Given the description of an element on the screen output the (x, y) to click on. 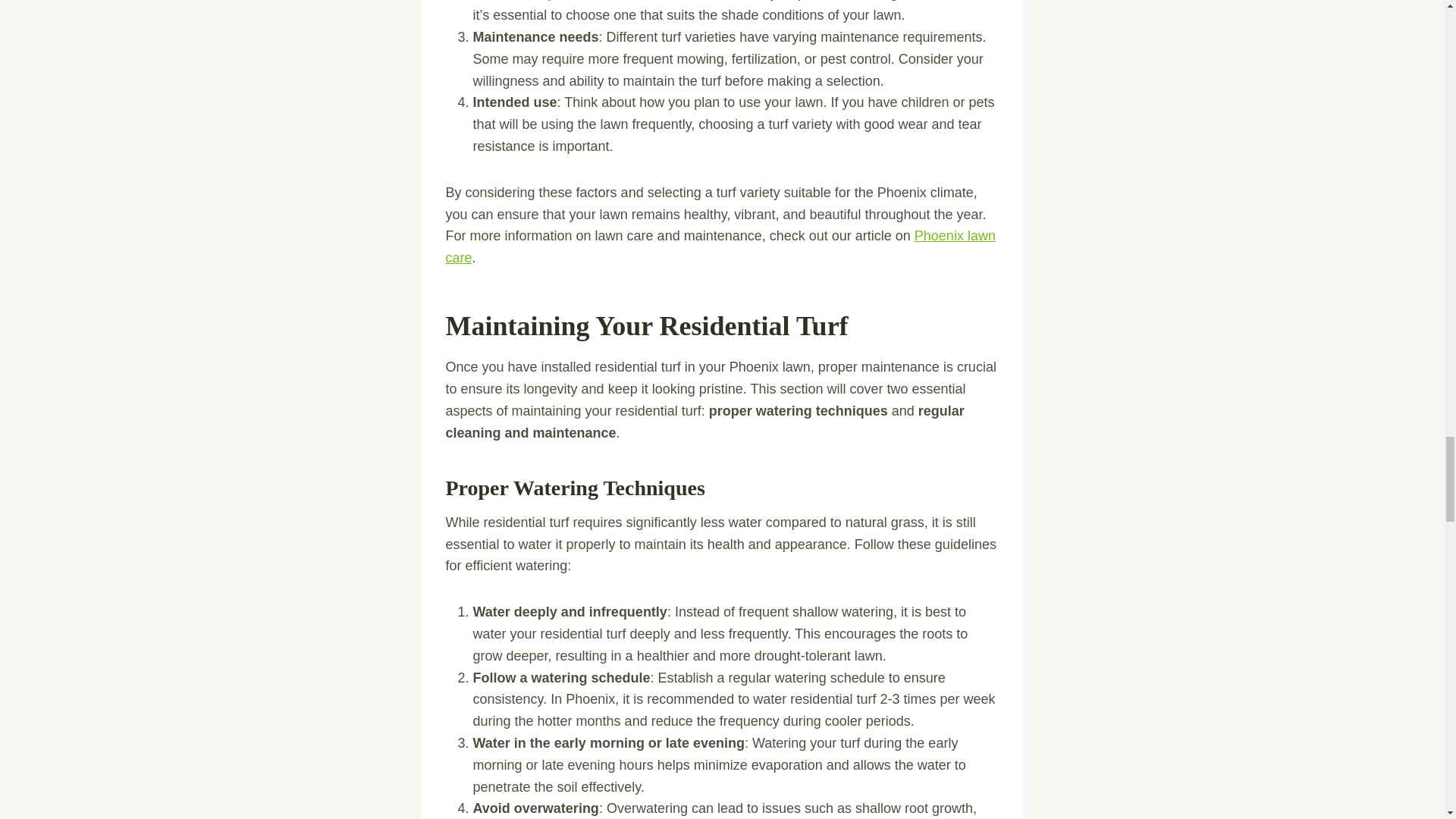
Phoenix lawn care (720, 246)
